Given the description of an element on the screen output the (x, y) to click on. 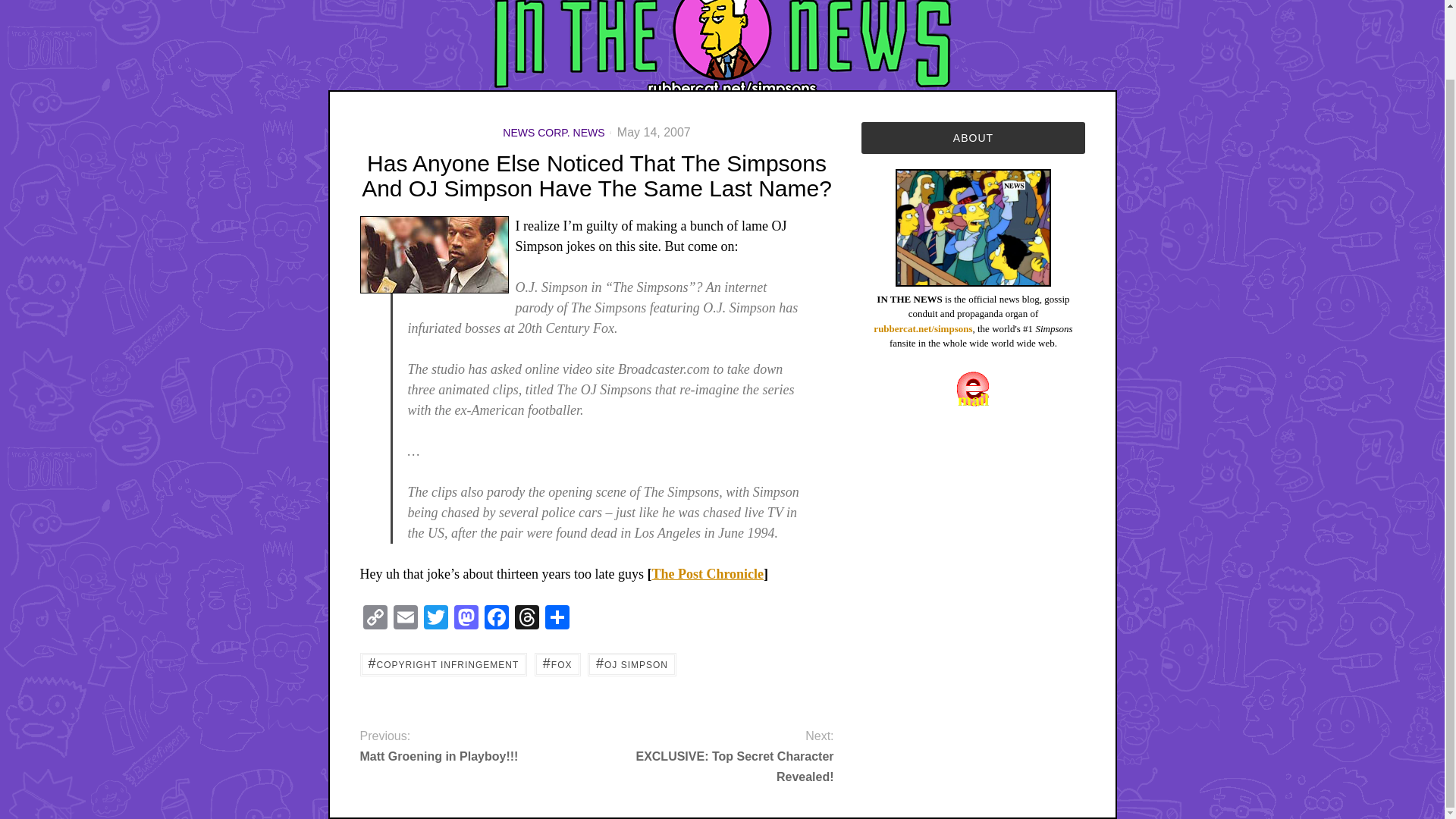
Twitter (434, 619)
Matt Groening in Playboy!!! (465, 756)
EXCLUSIVE: Top Secret Character Revealed! (726, 766)
The Post Chronicle (706, 573)
Email (405, 619)
NEWS CORP. NEWS (553, 132)
Facebook (495, 619)
Threads (526, 619)
Twitter (434, 619)
Threads (526, 619)
